Given the description of an element on the screen output the (x, y) to click on. 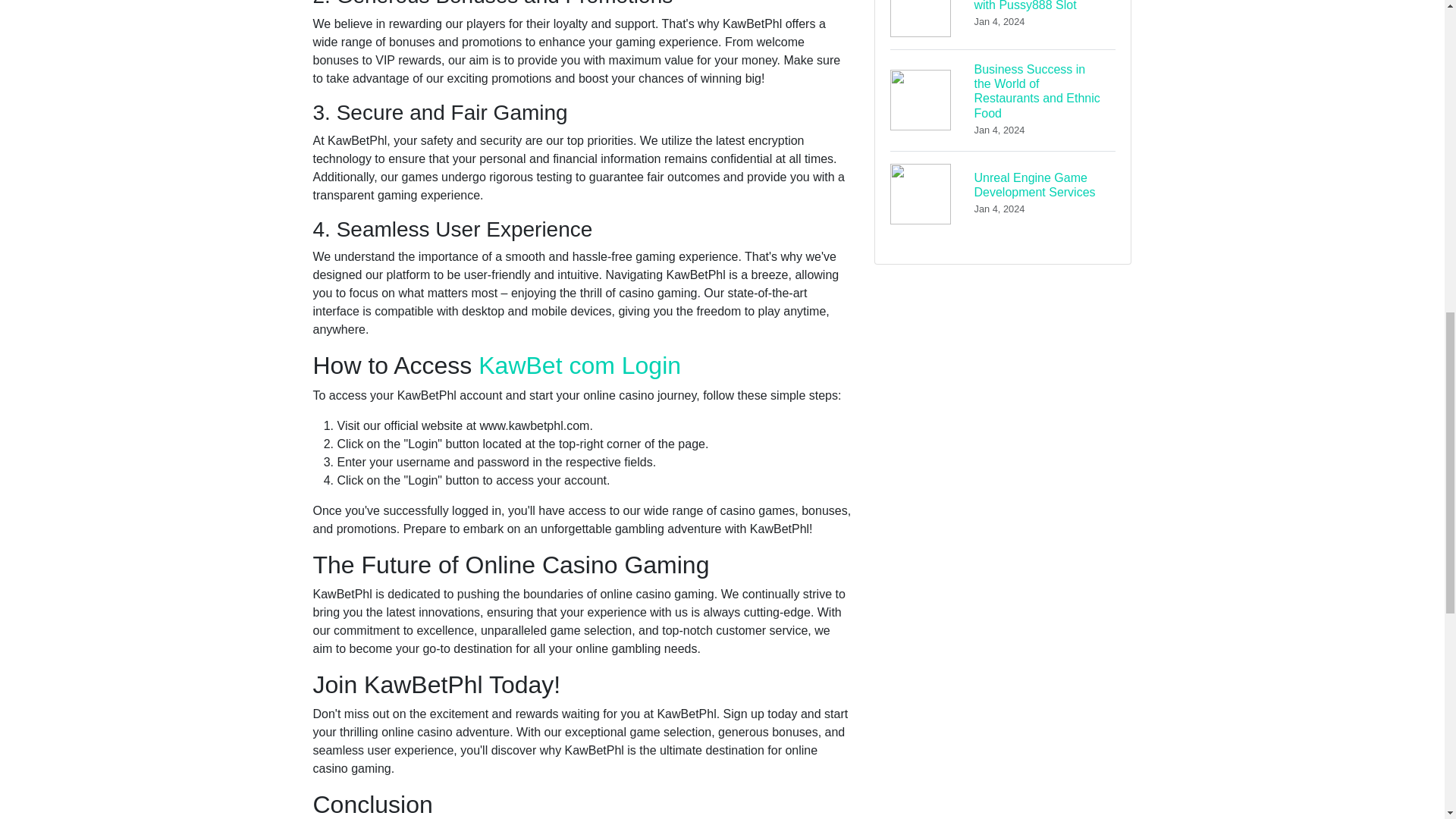
KawBet com Login (1002, 193)
